Given the description of an element on the screen output the (x, y) to click on. 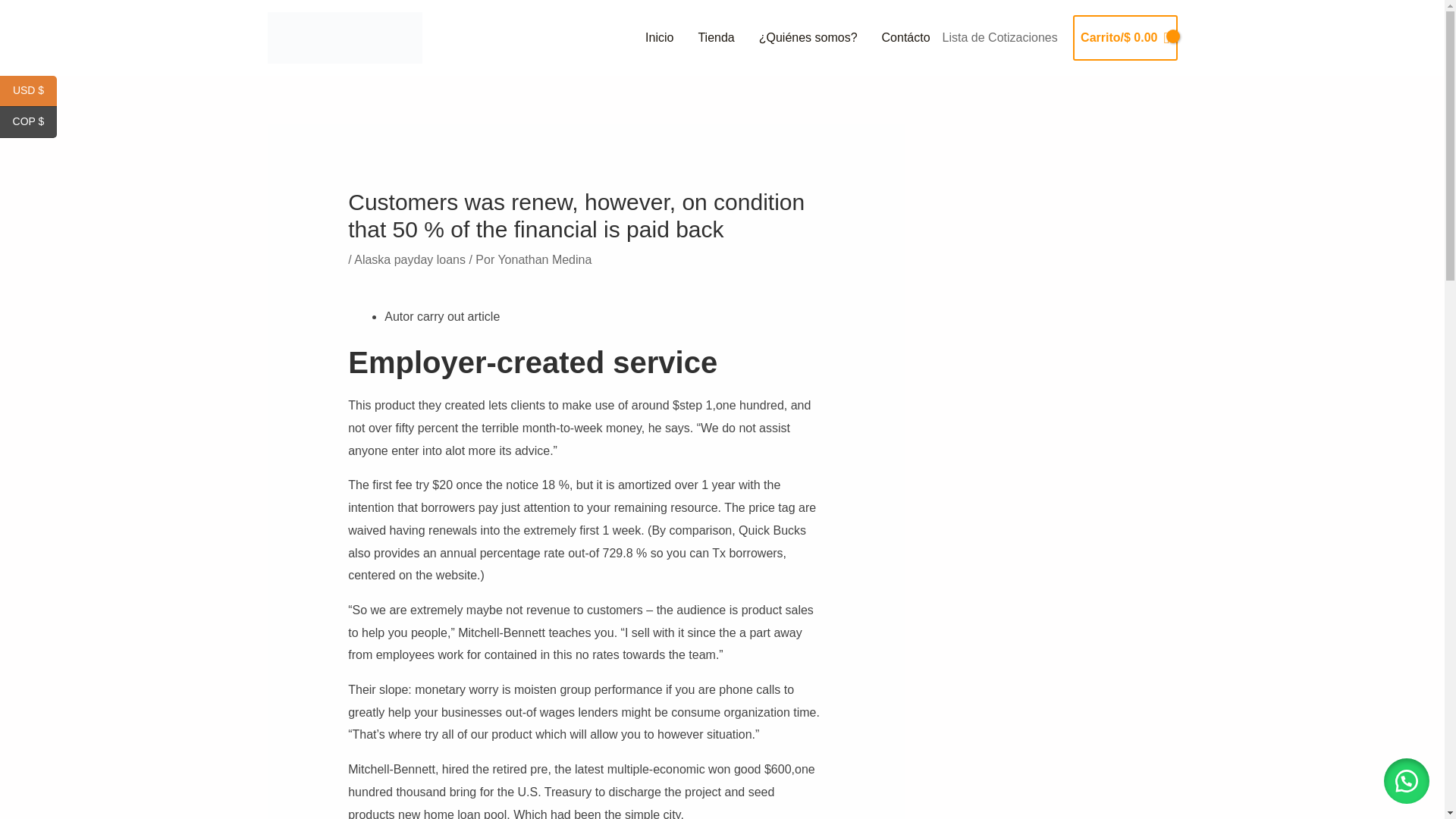
Ver todas las entradas de Yonathan Medina (544, 259)
Alaska payday loans (409, 259)
Tienda (715, 37)
Yonathan Medina (544, 259)
Lista de Cotizaciones (1000, 37)
Inicio (659, 37)
